Given the description of an element on the screen output the (x, y) to click on. 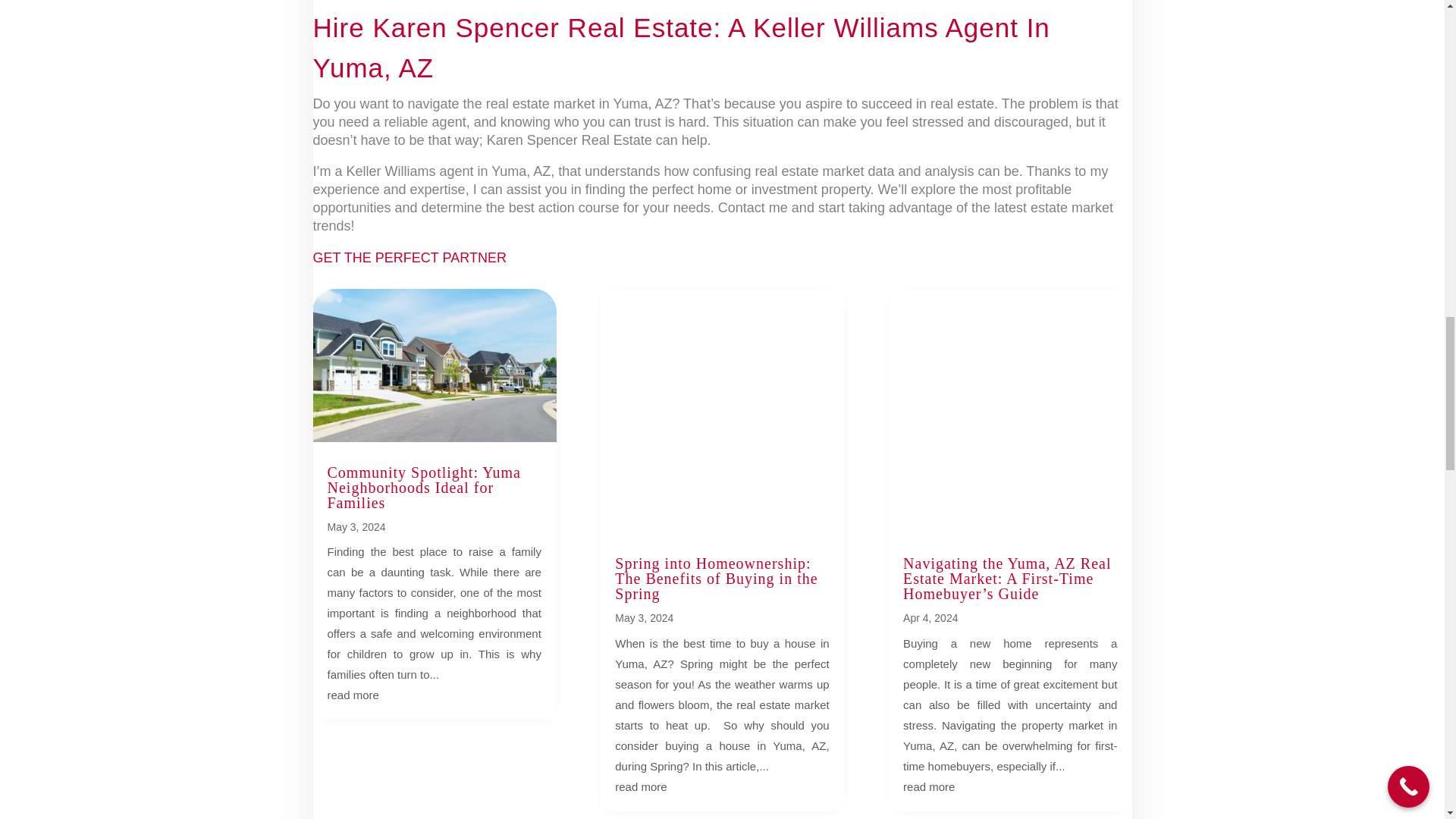
read more (352, 694)
Community Spotlight: Yuma Neighborhoods Ideal for Families (424, 487)
GET THE PERFECT PARTNER (409, 257)
read more (928, 786)
read more (640, 786)
